Given the description of an element on the screen output the (x, y) to click on. 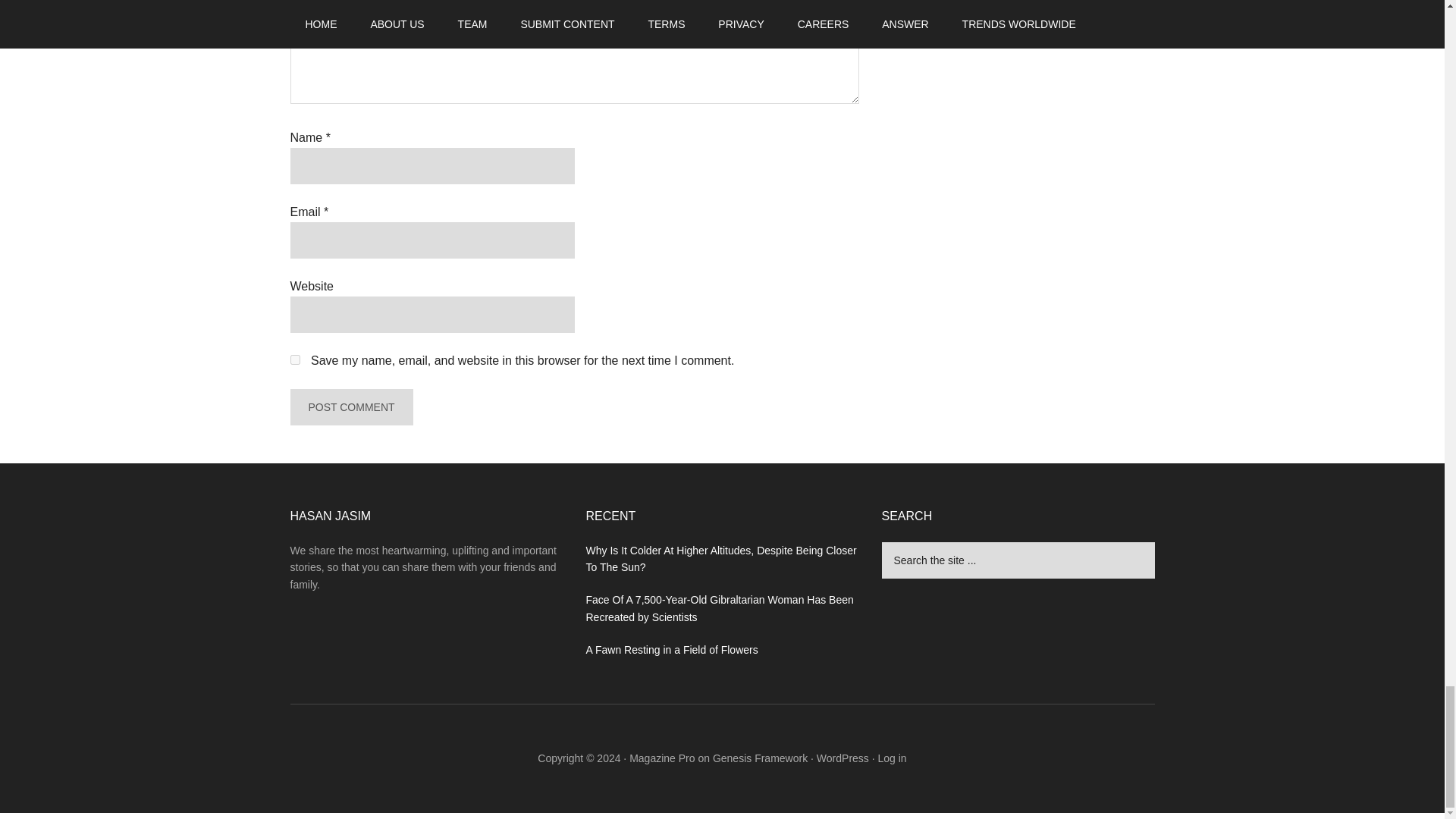
Post Comment (350, 407)
yes (294, 359)
Post Comment (350, 407)
